Given the description of an element on the screen output the (x, y) to click on. 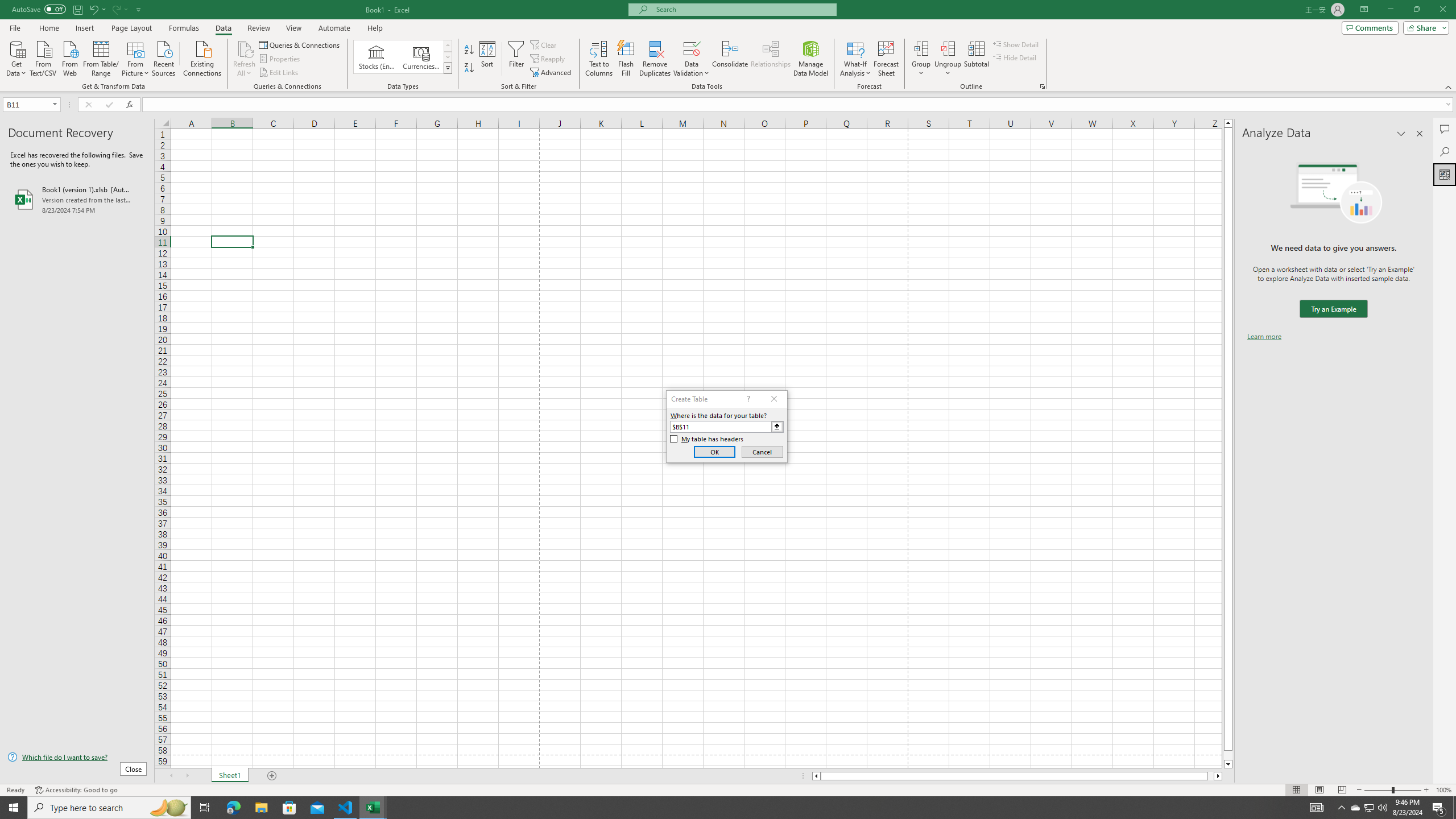
Hide Detail (1014, 56)
Automate (334, 28)
Refresh All (244, 48)
Group... (921, 58)
Sort Z to A (469, 67)
Manage Data Model (810, 58)
Filter (515, 58)
AutomationID: ConvertToLinkedEntity (403, 56)
